Given the description of an element on the screen output the (x, y) to click on. 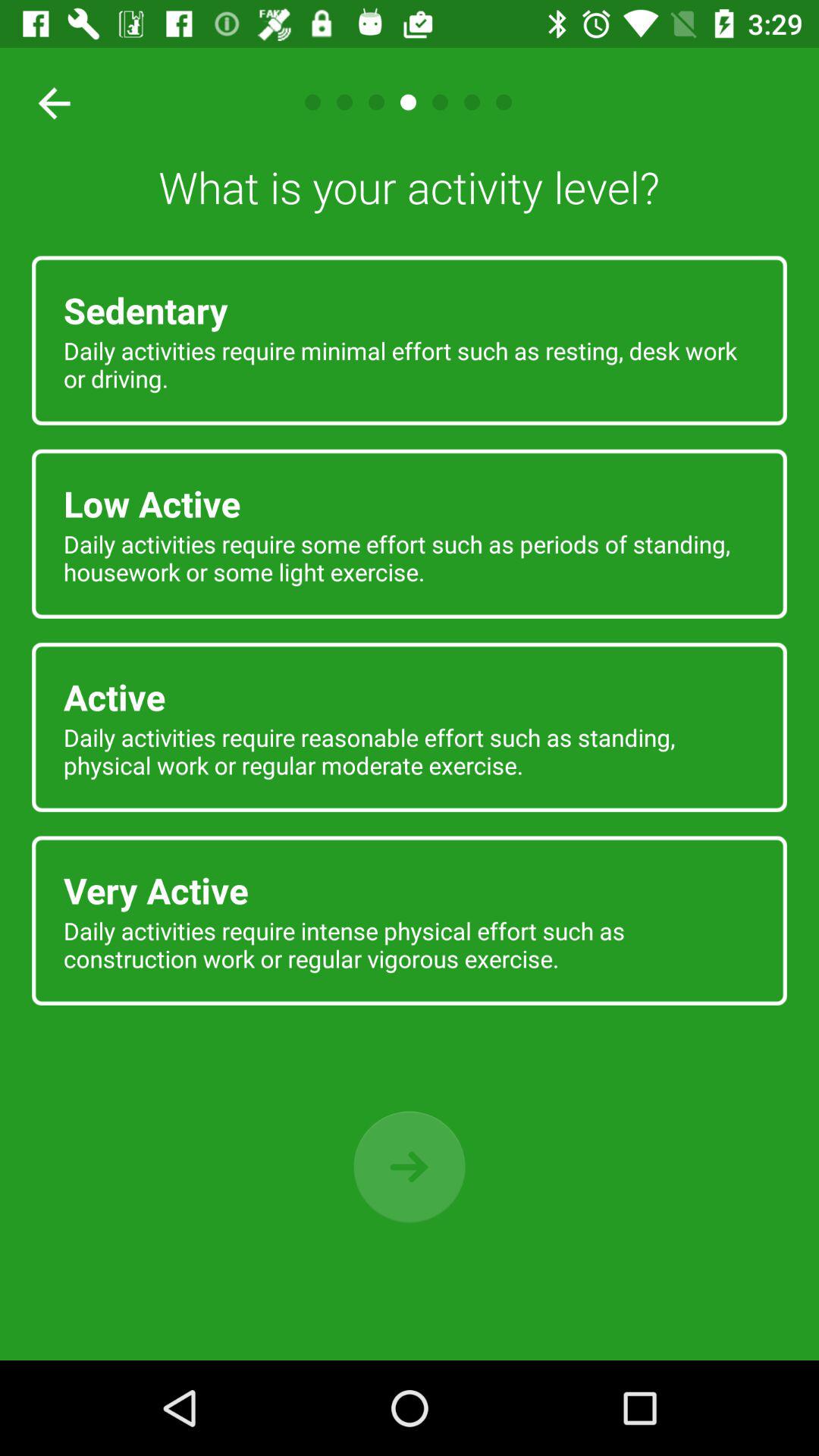
go back (409, 1166)
